Given the description of an element on the screen output the (x, y) to click on. 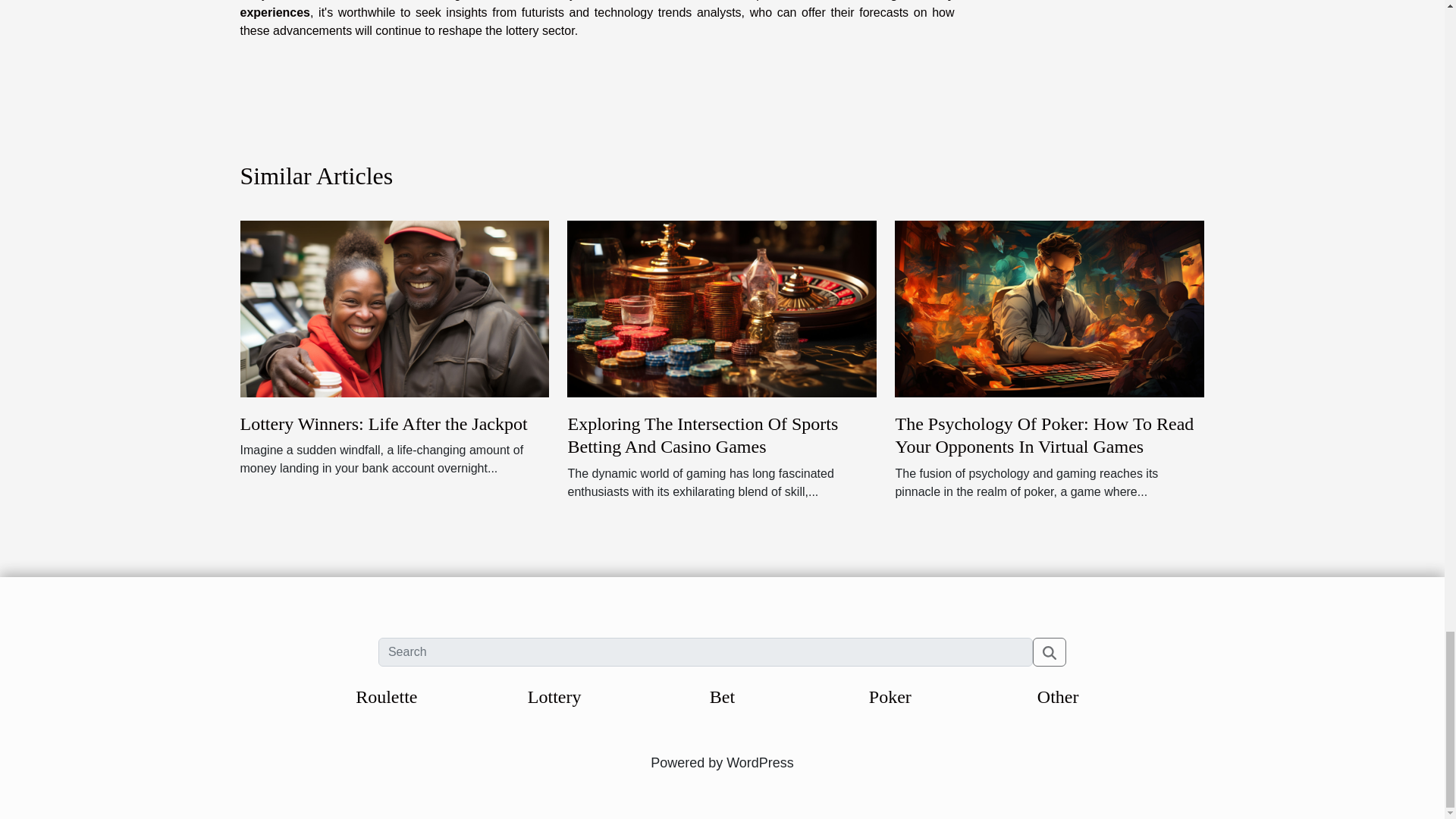
Lottery (553, 696)
Poker (890, 696)
Lottery Winners: Life After the Jackpot (394, 308)
Lottery Winners: Life After the Jackpot (383, 424)
Bet (722, 696)
Roulette (385, 696)
Lottery Winners: Life After the Jackpot (383, 424)
